Given the description of an element on the screen output the (x, y) to click on. 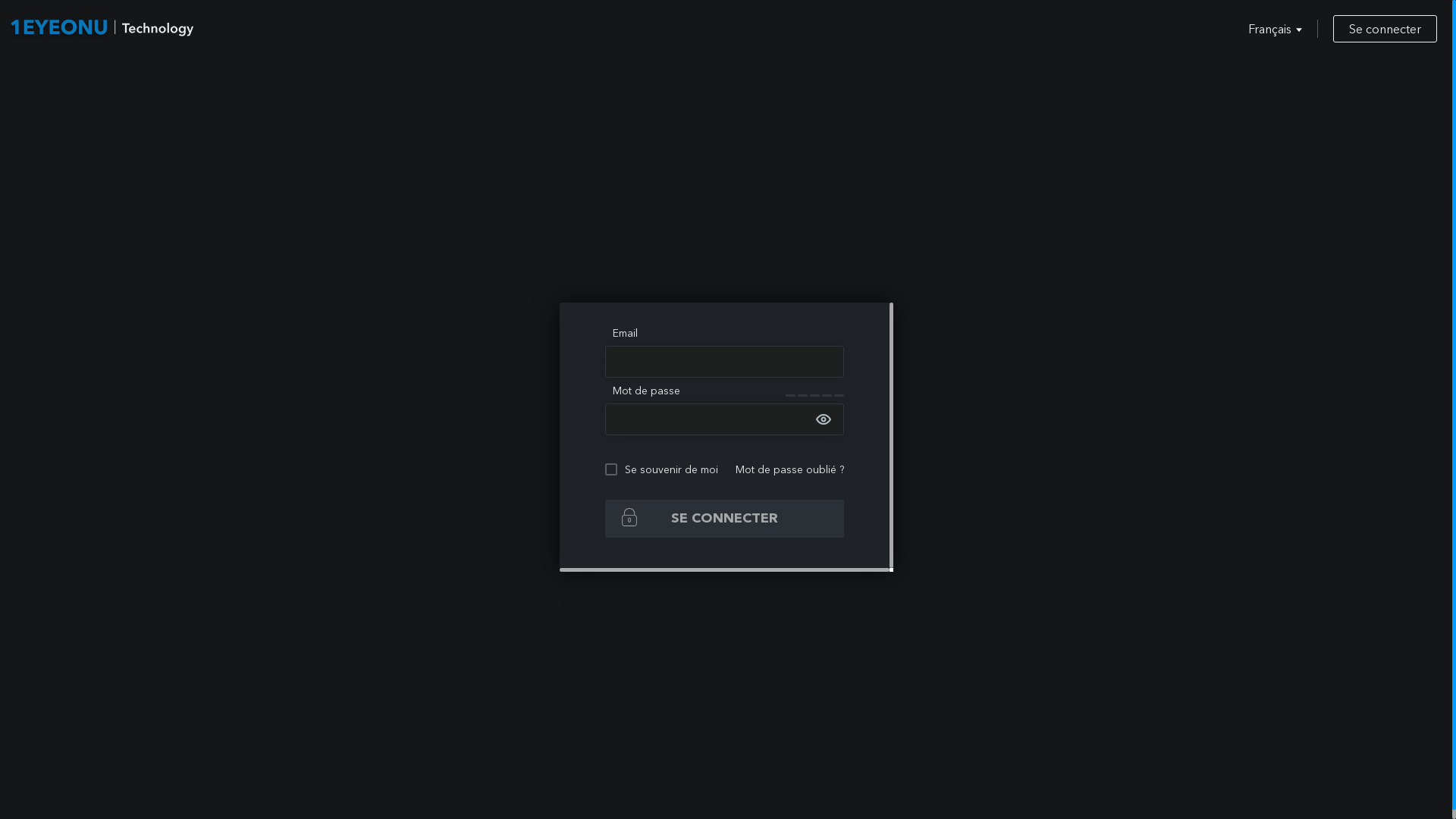
Se connecter Element type: text (1385, 28)
SE CONNECTER Element type: text (724, 517)
